Given the description of an element on the screen output the (x, y) to click on. 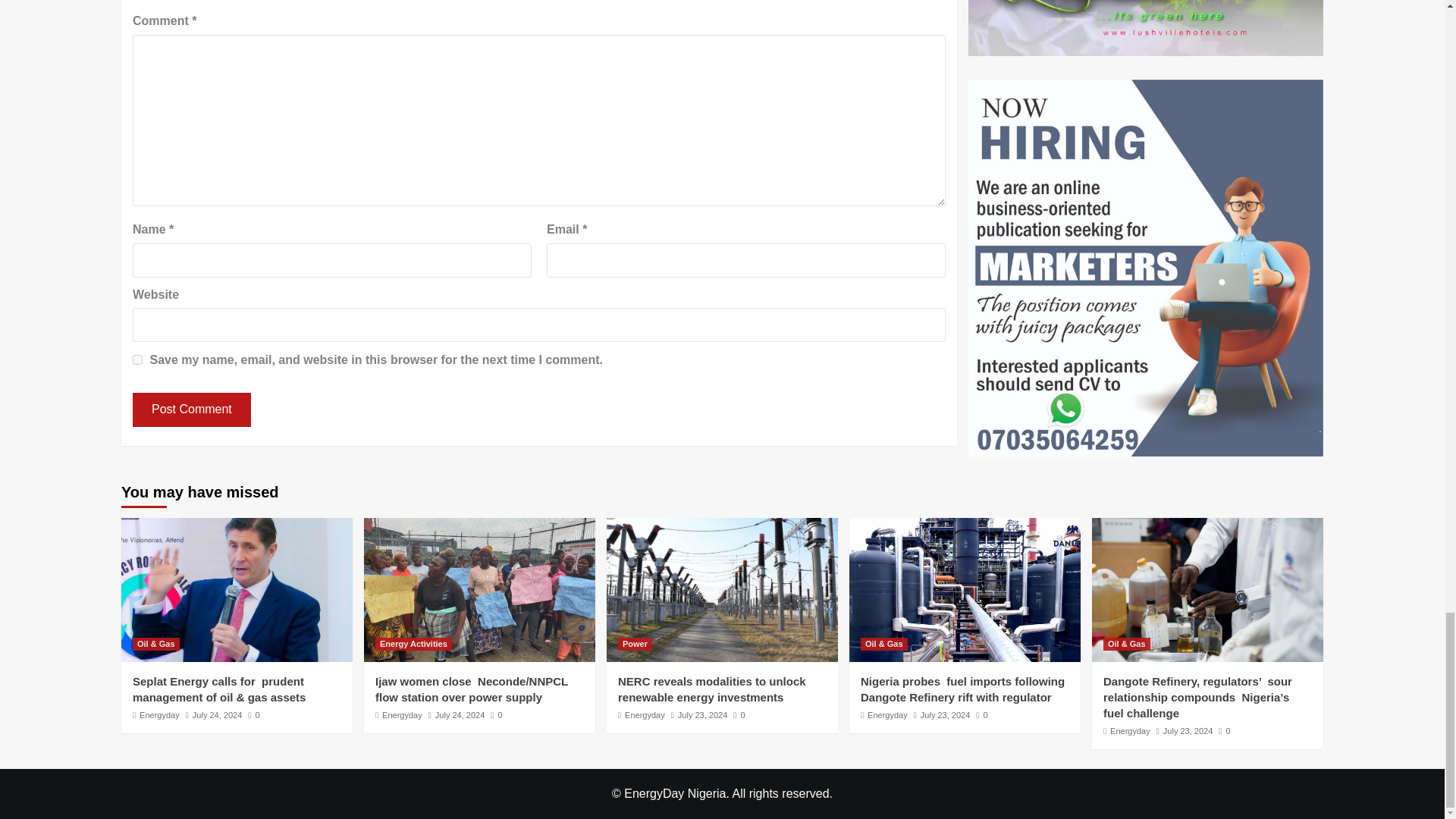
yes (137, 359)
Post Comment (191, 409)
